Given the description of an element on the screen output the (x, y) to click on. 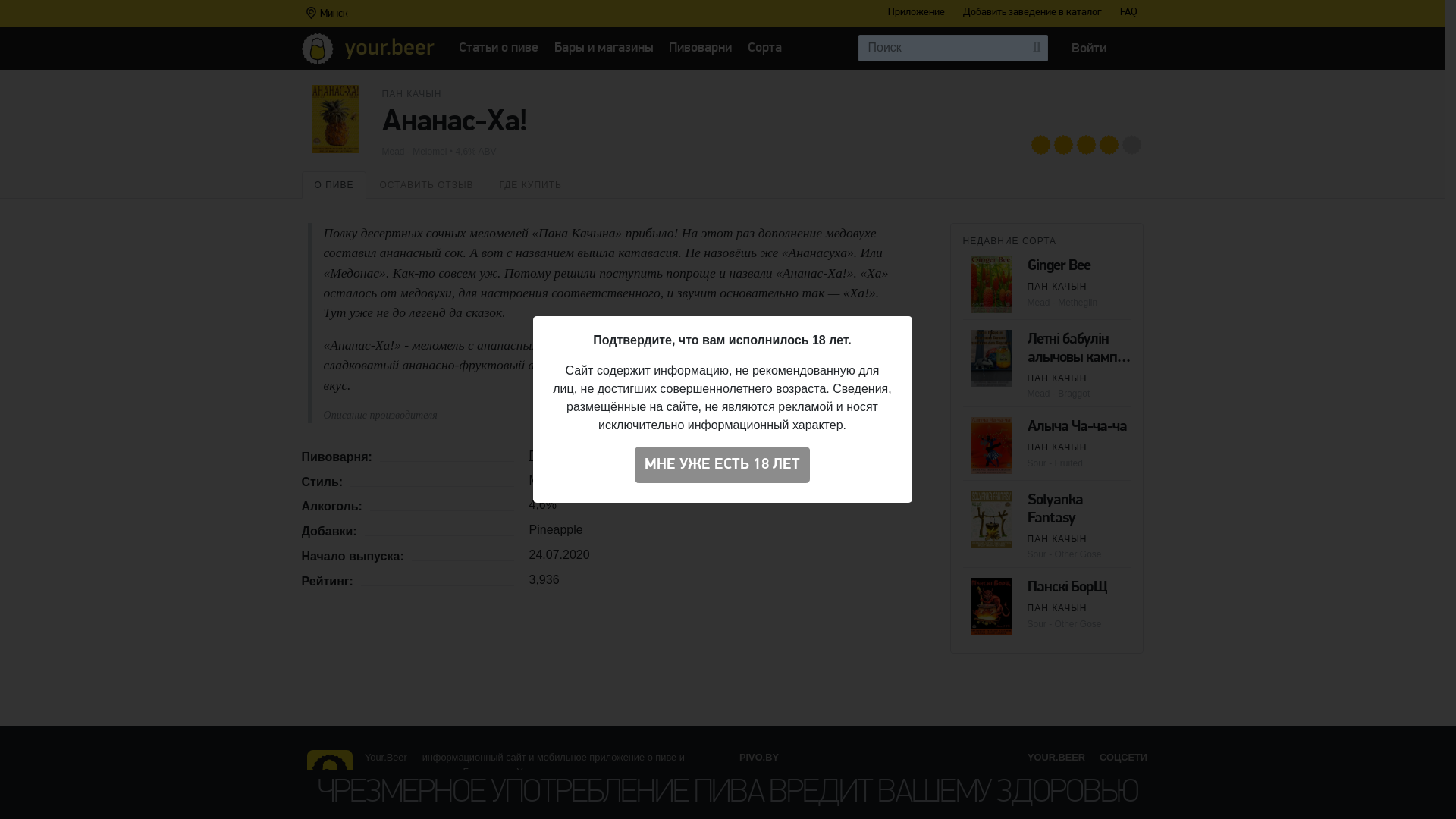
3,936 Element type: text (544, 579)
Solyanka Fantasy Element type: text (1054, 509)
FAQ Element type: text (1127, 12)
contact@your.beer Element type: text (434, 806)
Ginger Bee Element type: text (1057, 265)
Facebook Element type: text (1120, 794)
Mead - Melomel Element type: text (414, 151)
Twitter Element type: text (1113, 811)
VK Element type: text (1105, 777)
